Given the description of an element on the screen output the (x, y) to click on. 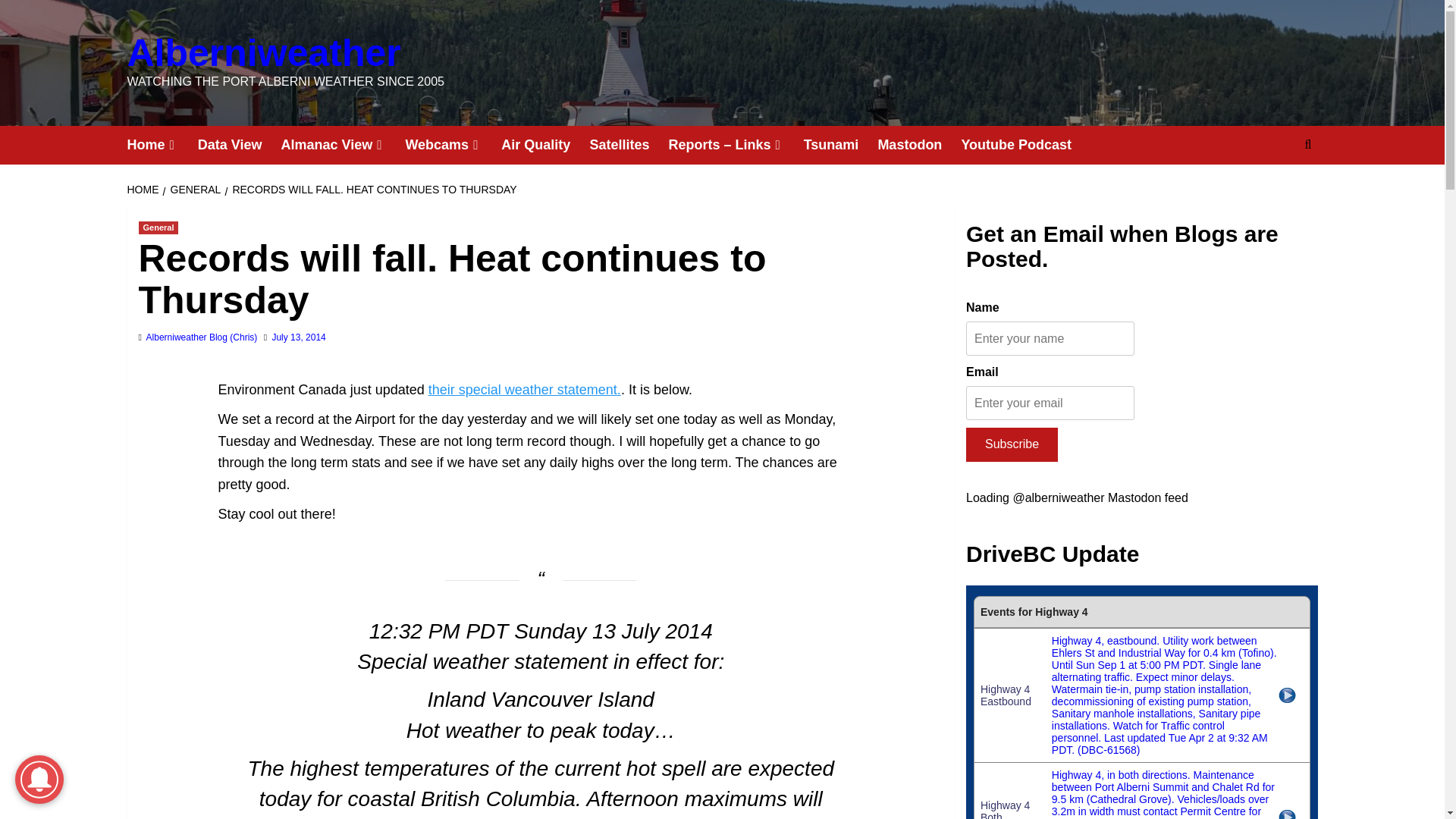
BC Highway 4 (1141, 702)
Data View (239, 145)
Webcams (452, 145)
Home (163, 145)
Almanac View (342, 145)
Alberniweather (264, 52)
Air Quality (544, 145)
Subscribe (1012, 444)
Satellites (628, 145)
